Given the description of an element on the screen output the (x, y) to click on. 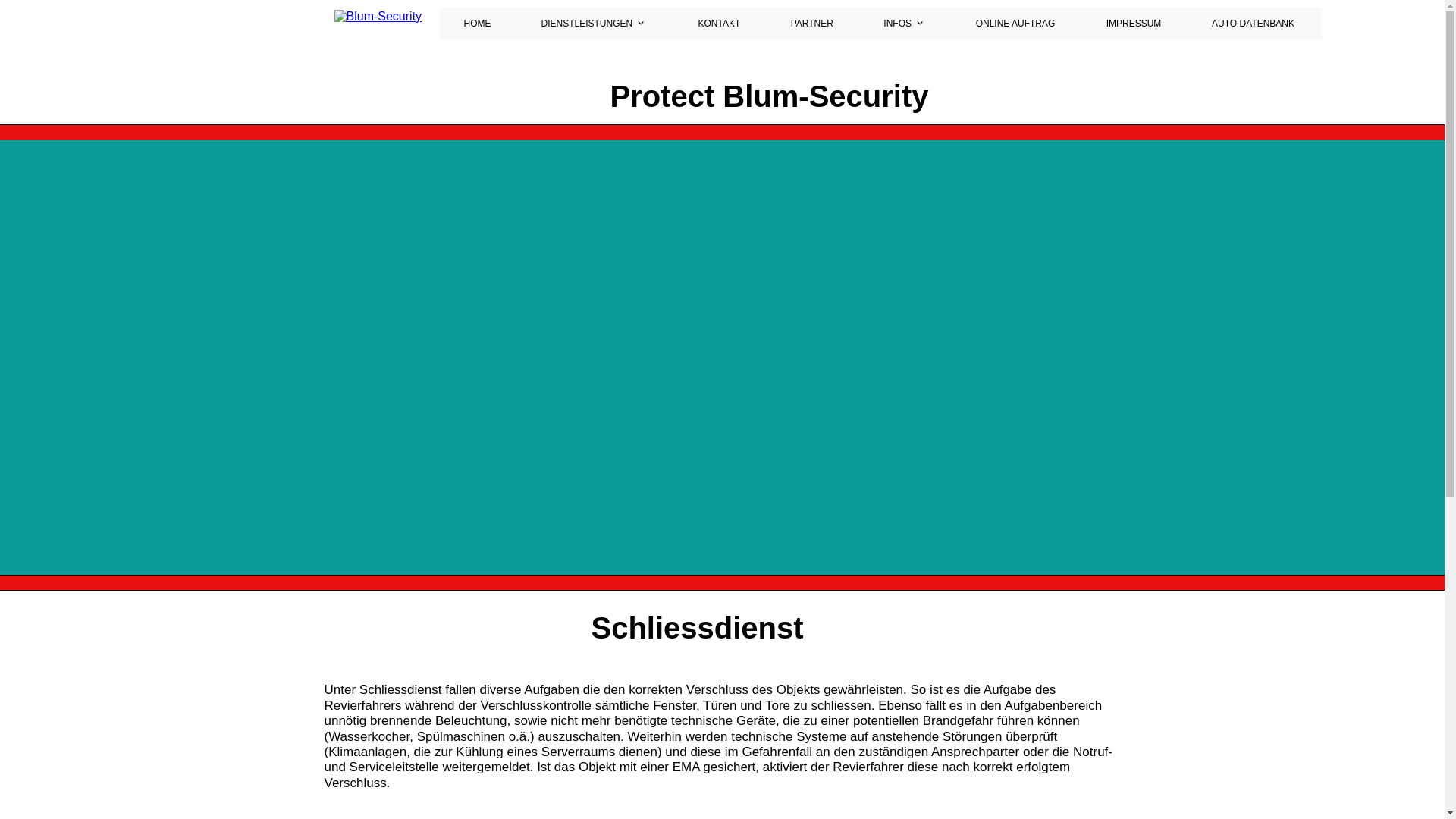
INFOS Element type: text (904, 23)
KONTAKT Element type: text (720, 23)
IMPRESSUM Element type: text (1134, 23)
DIENSTLEISTUNGEN Element type: text (594, 23)
ONLINE AUFTRAG Element type: text (1016, 23)
AUTO DATENBANK Element type: text (1254, 23)
HOME Element type: text (478, 23)
PARTNER Element type: text (812, 23)
